Given the description of an element on the screen output the (x, y) to click on. 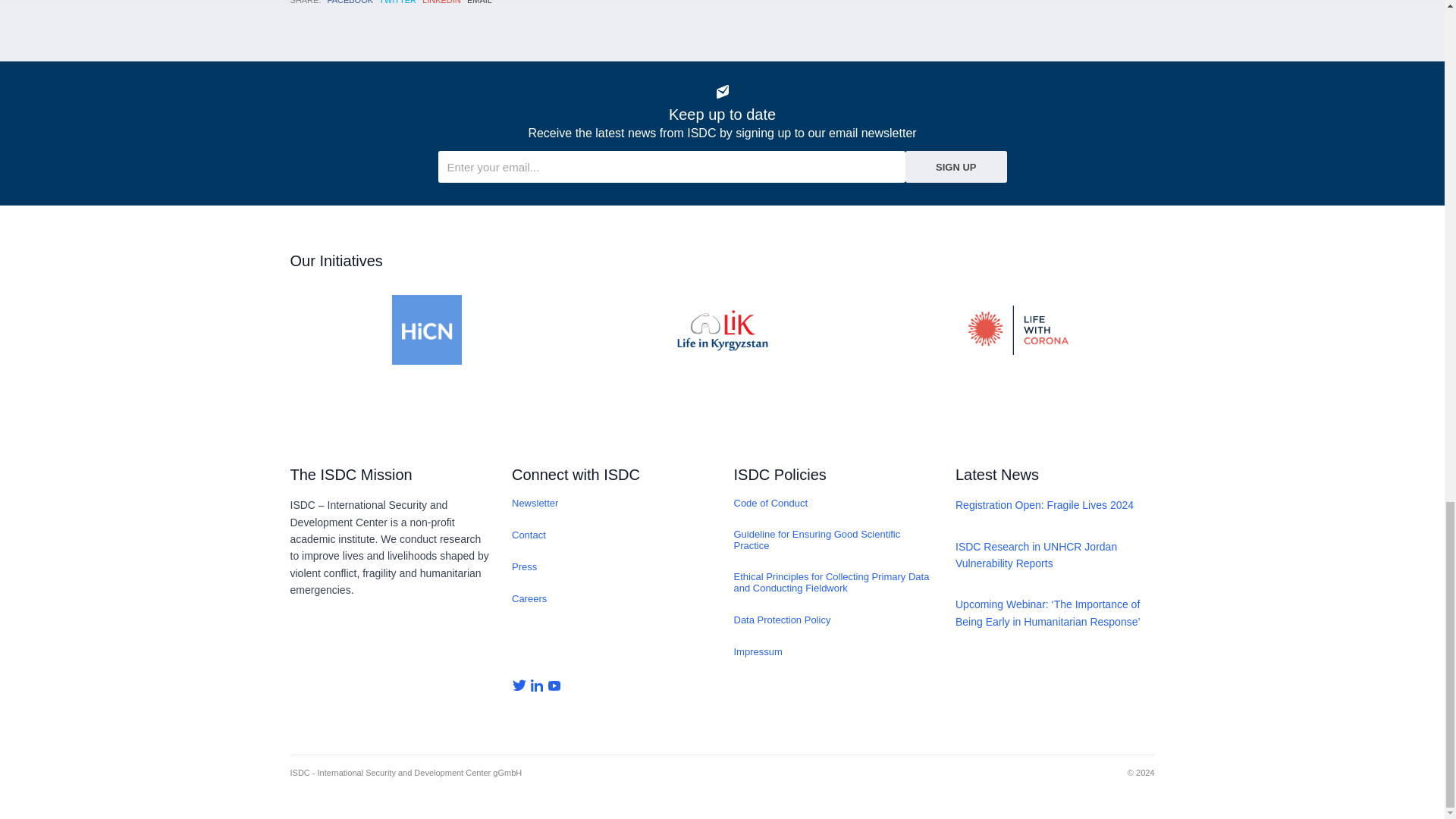
LINKEDIN (441, 2)
TWITTER (397, 2)
FACEBOOK (350, 2)
